Given the description of an element on the screen output the (x, y) to click on. 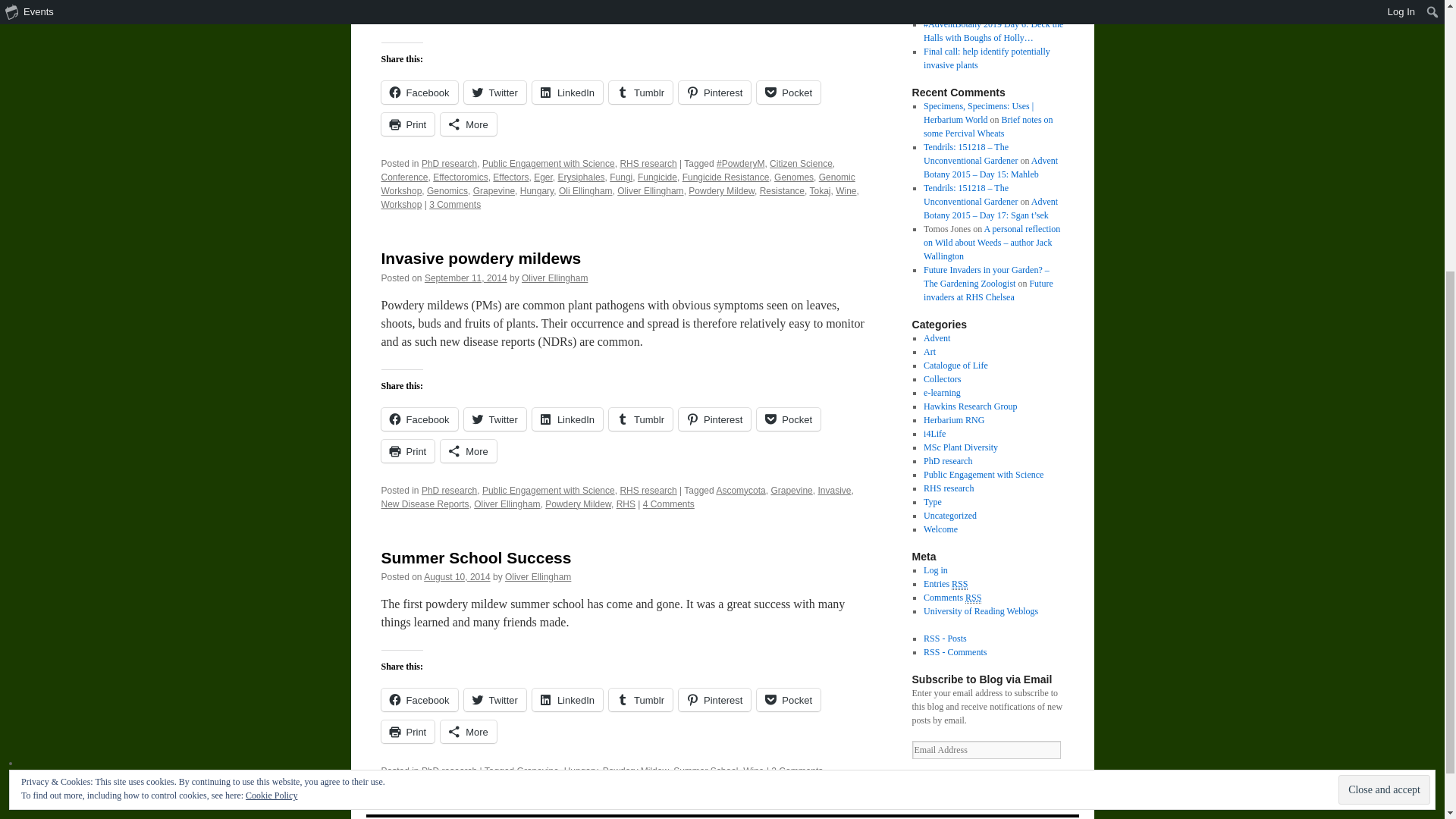
Click to share on Pinterest (714, 92)
Pinterest (714, 92)
Click to print (406, 124)
Facebook (418, 92)
Close and accept (1383, 363)
Click to share on LinkedIn (567, 418)
Click to share on LinkedIn (567, 92)
Twitter (494, 92)
Click to share on Pocket (789, 92)
Click to share on Facebook (418, 418)
